Given the description of an element on the screen output the (x, y) to click on. 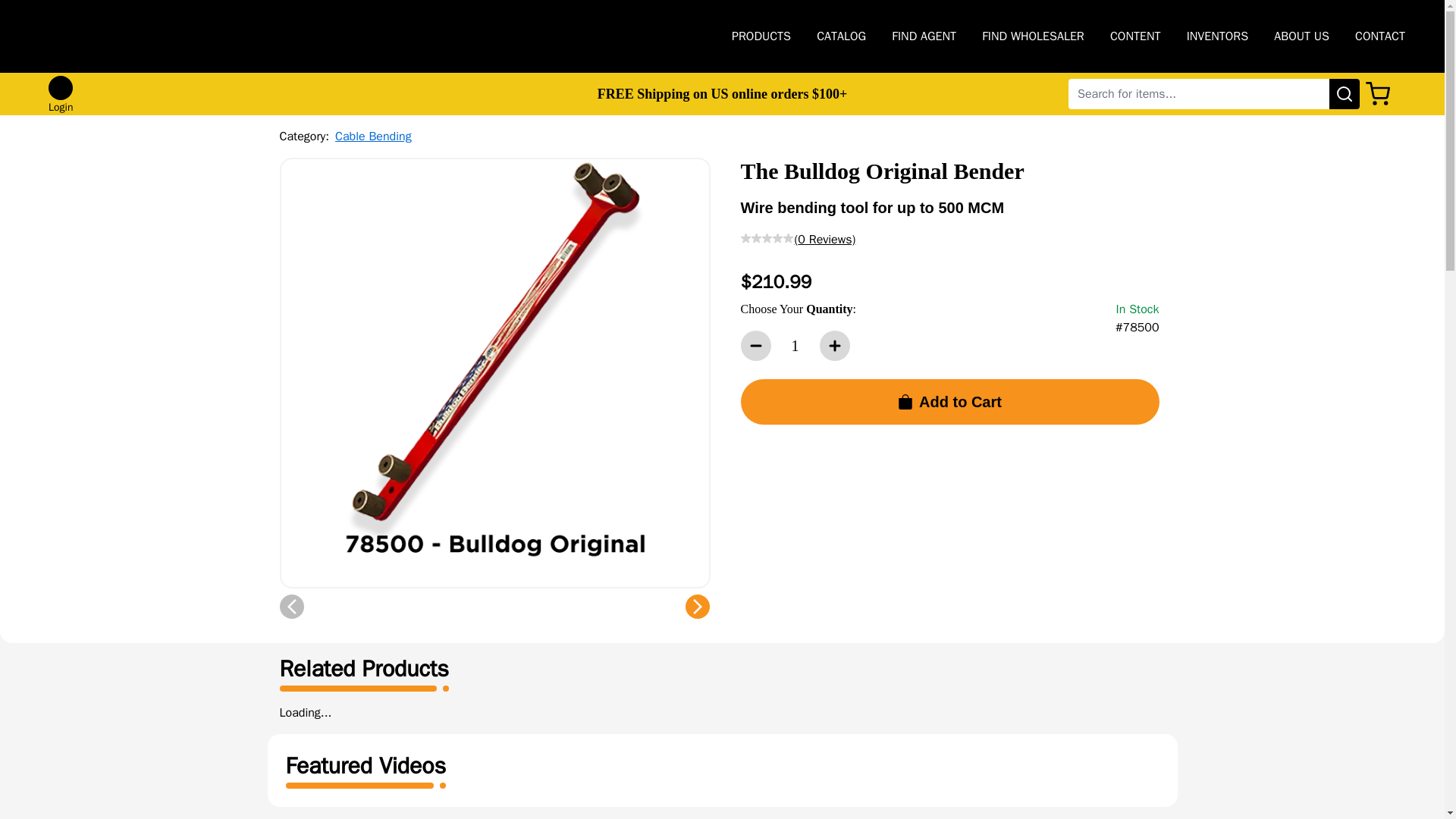
Add to Cart (948, 402)
CATALOG (841, 36)
FIND WHOLESALER (1032, 36)
FIND AGENT (923, 36)
Cable Bending (373, 136)
ABOUT US (1301, 36)
1 (794, 345)
CONTACT (1379, 36)
CONTENT (1134, 36)
INVENTORS (1217, 36)
